Given the description of an element on the screen output the (x, y) to click on. 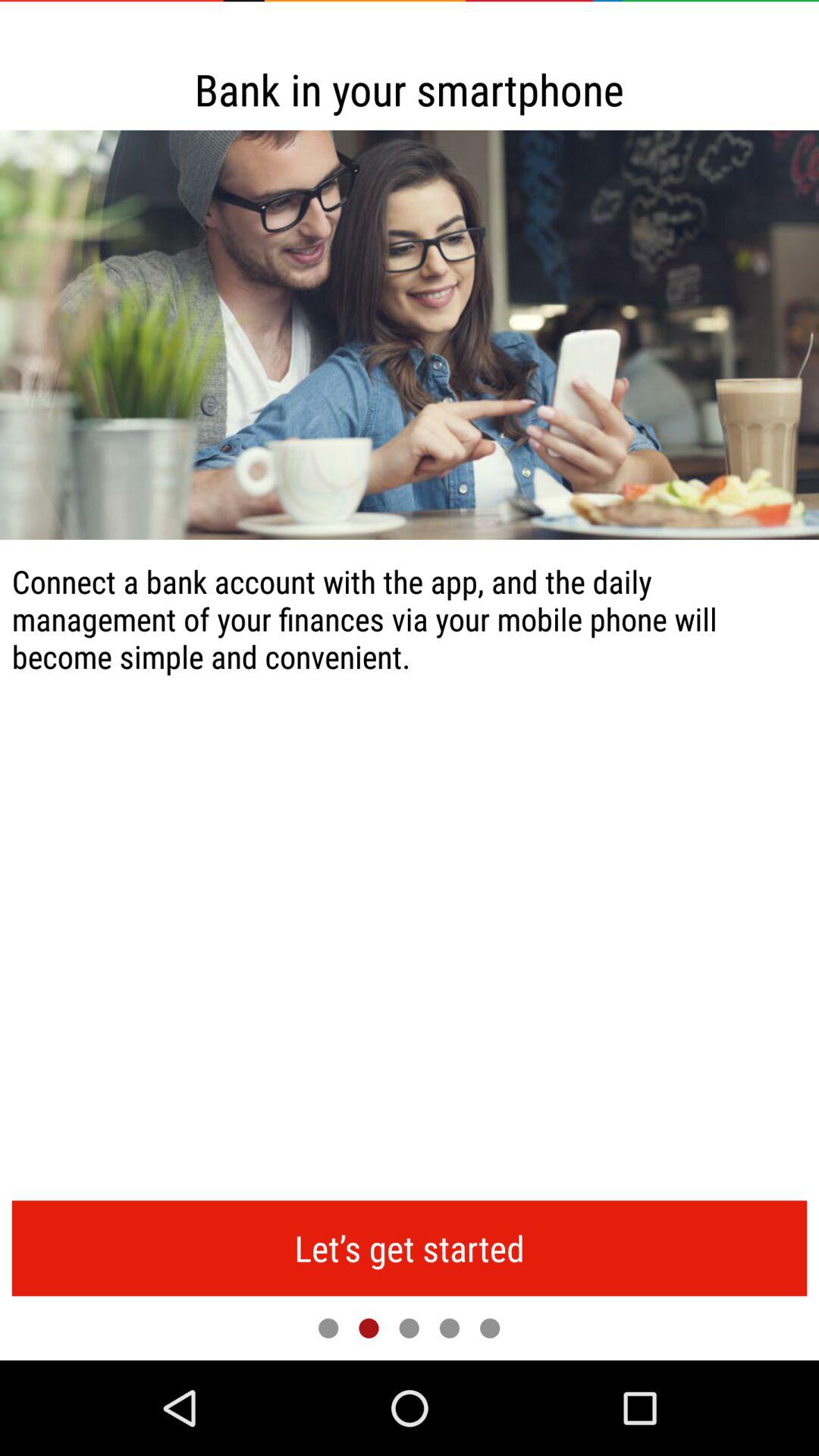
turn off let s get (409, 1248)
